Given the description of an element on the screen output the (x, y) to click on. 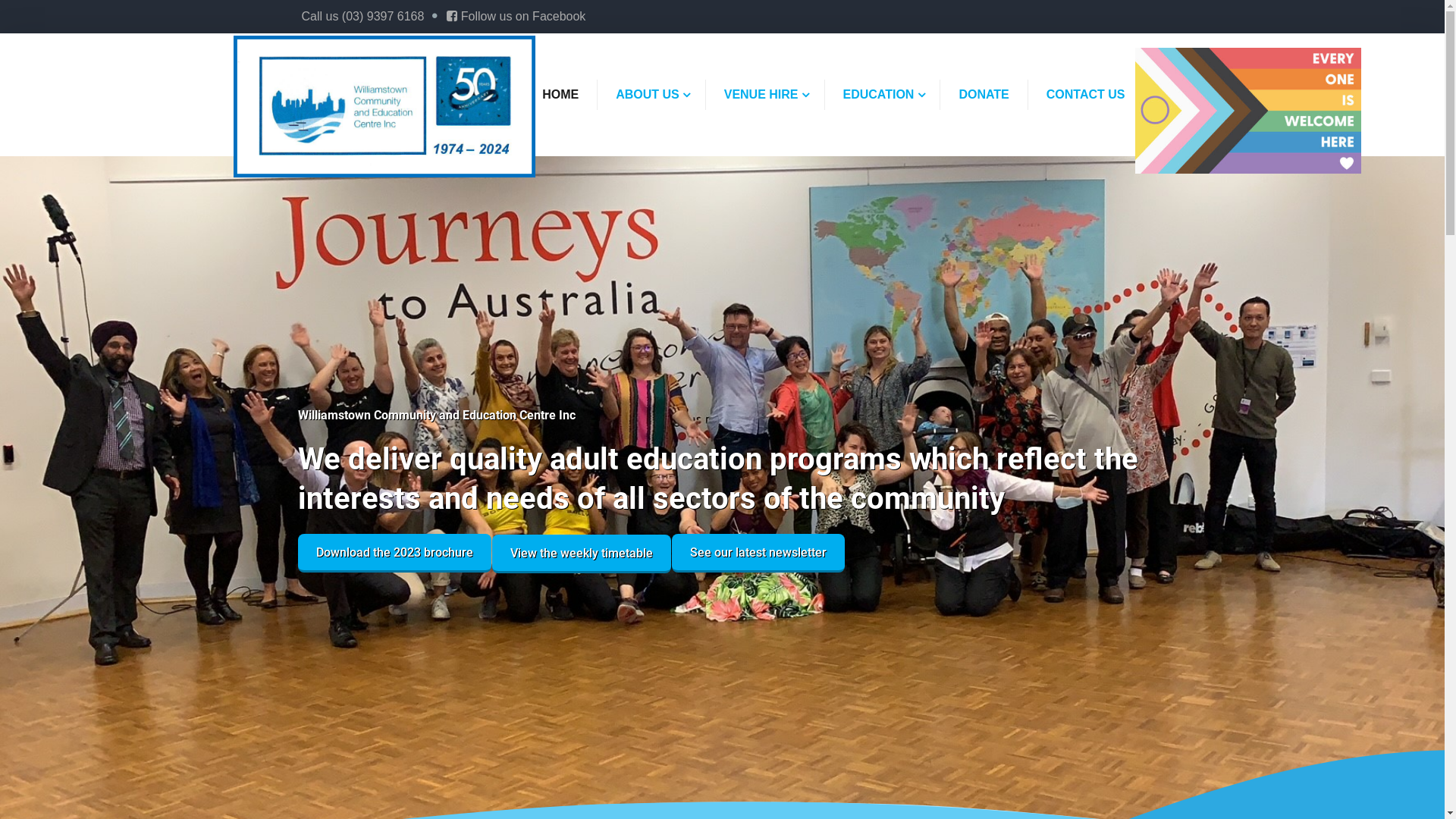
CONTACT US Element type: text (1085, 94)
EDUCATION Element type: text (878, 94)
VENUE HIRE Element type: text (761, 94)
See our latest newsletter Element type: text (757, 552)
DONATE Element type: text (983, 94)
View the weekly timetable Element type: text (580, 552)
Download the 2023 brochure Element type: text (393, 552)
ABOUT US Element type: text (647, 94)
Follow us on Facebook Element type: text (515, 17)
HOME Element type: text (560, 94)
